Given the description of an element on the screen output the (x, y) to click on. 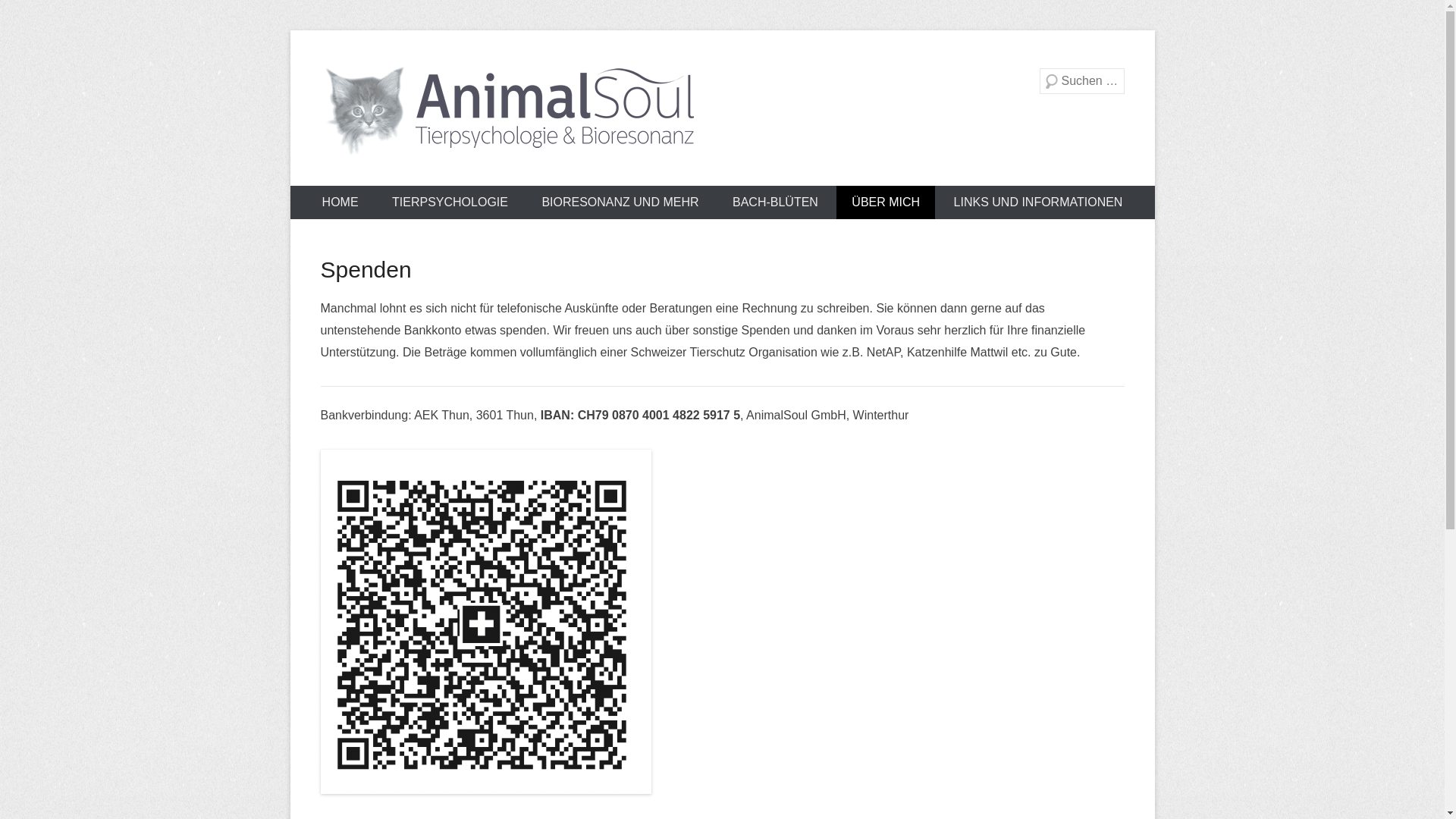
LINKS UND INFORMATIONEN Element type: text (1038, 202)
Zum Inhalt wechseln Element type: text (289, 29)
HOME Element type: text (340, 202)
TIERPSYCHOLOGIE Element type: text (449, 202)
AnimalSoul GmbH Element type: text (486, 181)
BIORESONANZ UND MEHR Element type: text (619, 202)
Suche Element type: text (31, 15)
